Given the description of an element on the screen output the (x, y) to click on. 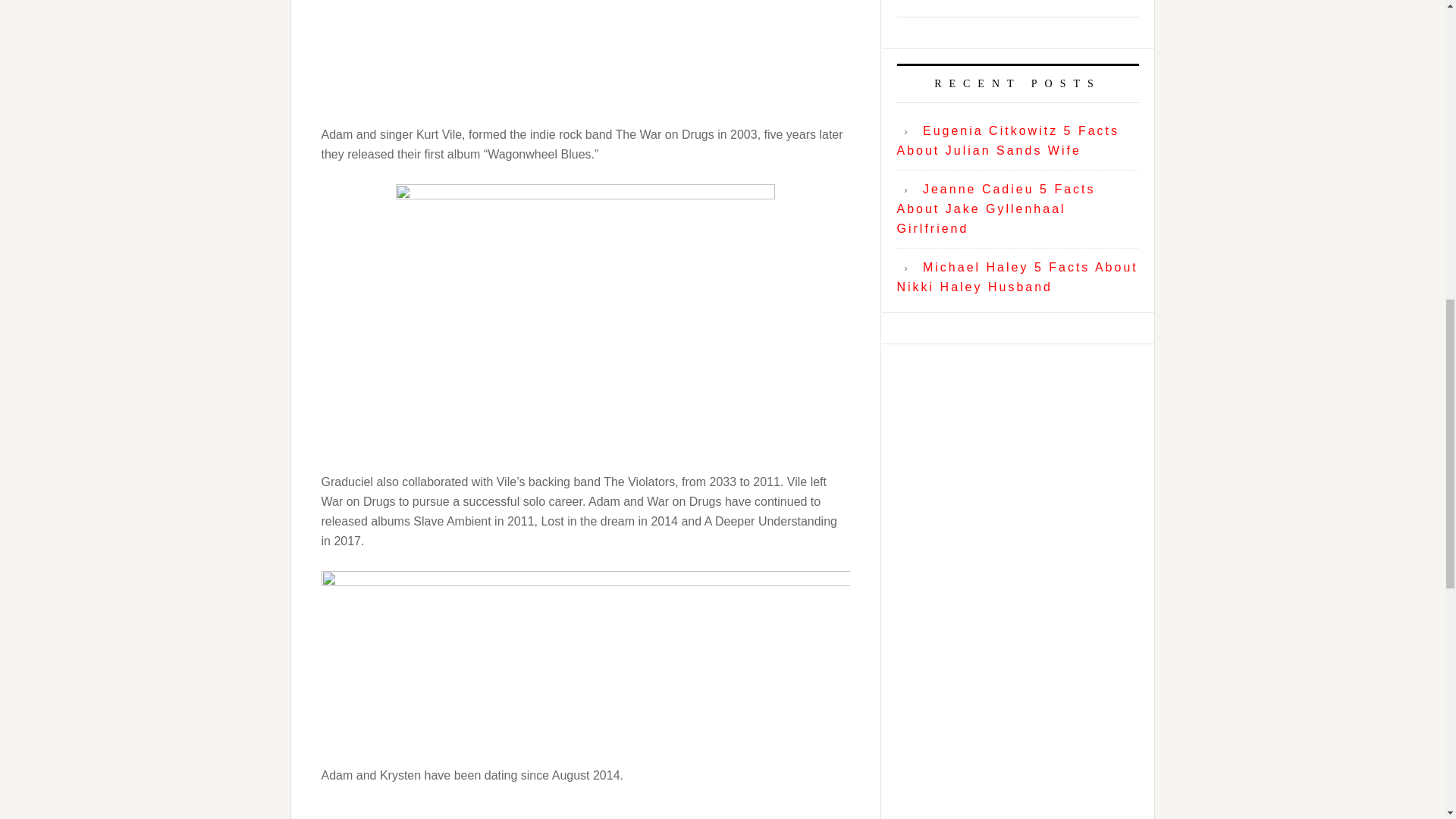
Eugenia Citkowitz 5 Facts About Julian Sands Wife (1007, 140)
Michael Haley 5 Facts About Nikki Haley Husband (1016, 277)
Jeanne Cadieu 5 Facts About Jake Gyllenhaal Girlfriend (995, 208)
